Given the description of an element on the screen output the (x, y) to click on. 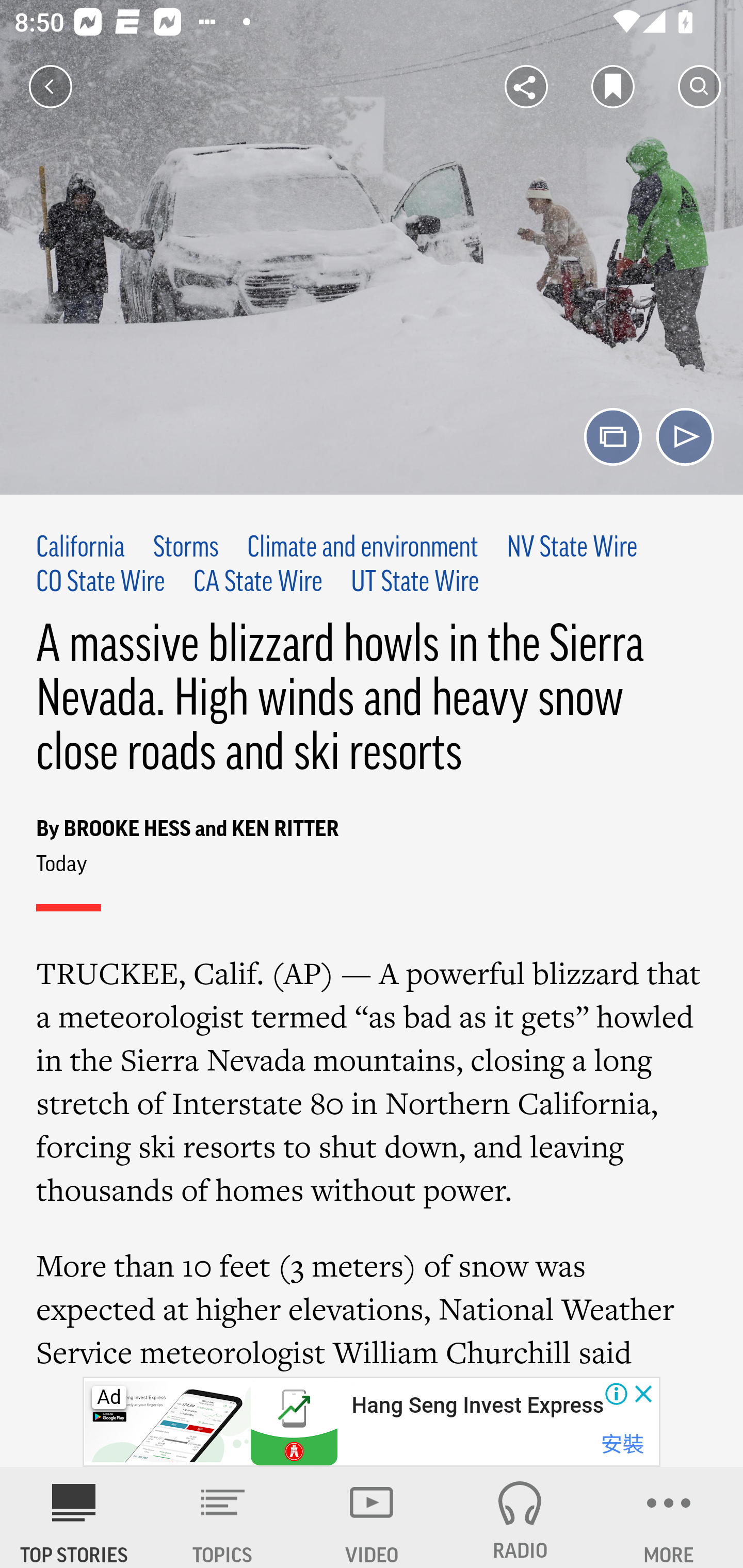
California (81, 548)
Storms (185, 548)
Climate and environment (361, 548)
NV State Wire (571, 548)
CO State Wire (101, 582)
CA State Wire (258, 582)
UT State Wire (415, 582)
Hang Seng Invest Express (476, 1405)
安裝 (621, 1444)
AP News TOP STORIES (74, 1517)
TOPICS (222, 1517)
VIDEO (371, 1517)
RADIO (519, 1517)
MORE (668, 1517)
